Given the description of an element on the screen output the (x, y) to click on. 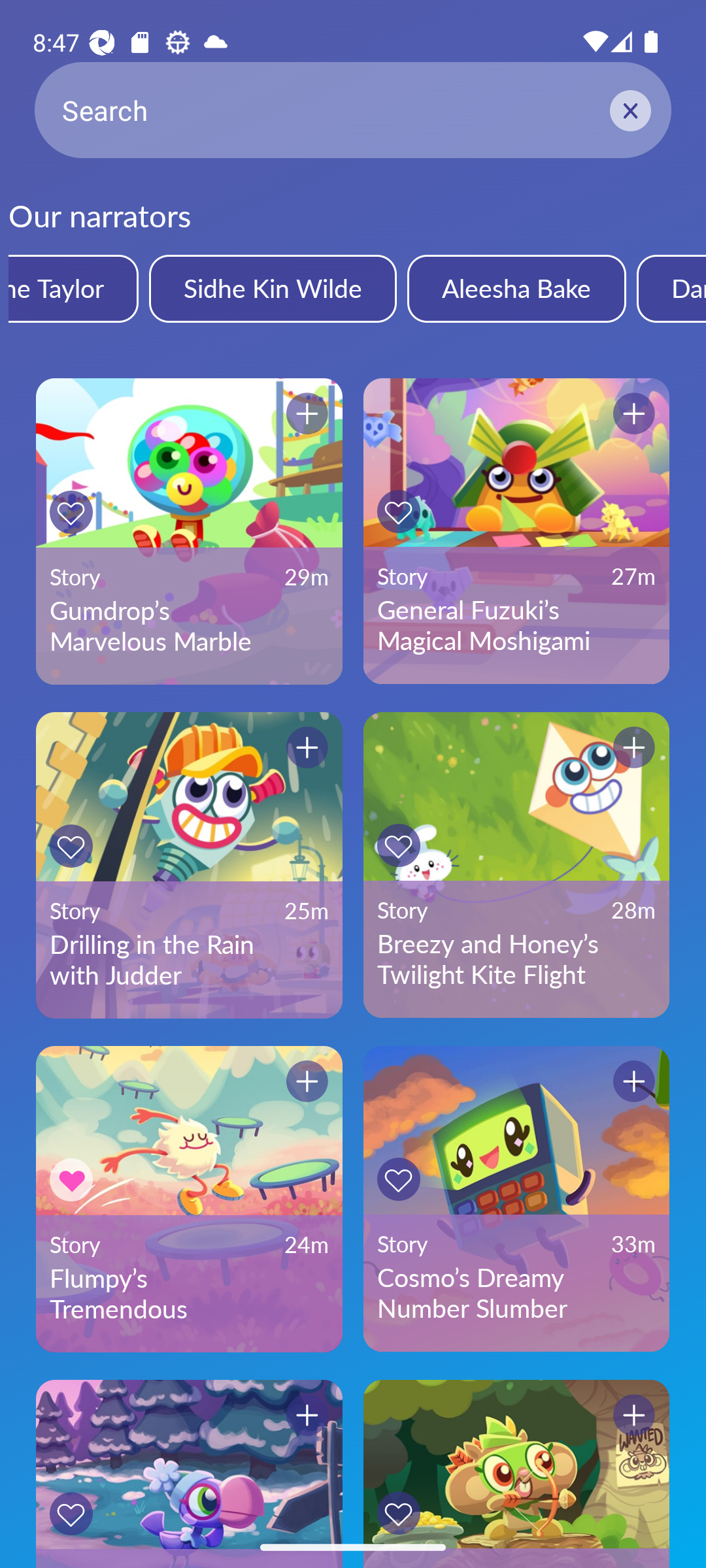
Search (352, 110)
Shane Taylor (73, 288)
Sidhe Kin Wilde (272, 288)
Aleesha Bake (516, 288)
Button (307, 413)
Button (633, 413)
Button (398, 510)
Button (71, 511)
Button (307, 746)
Button (633, 746)
Button (398, 844)
Button (71, 845)
Button (307, 1080)
Button (633, 1080)
Button (398, 1178)
Button (71, 1179)
Button (307, 1414)
Button (633, 1414)
Featured Content Button Button Story 29m (189, 1473)
Featured Content Button Button Story 26m (516, 1473)
Button (398, 1512)
Button (71, 1513)
